Given the description of an element on the screen output the (x, y) to click on. 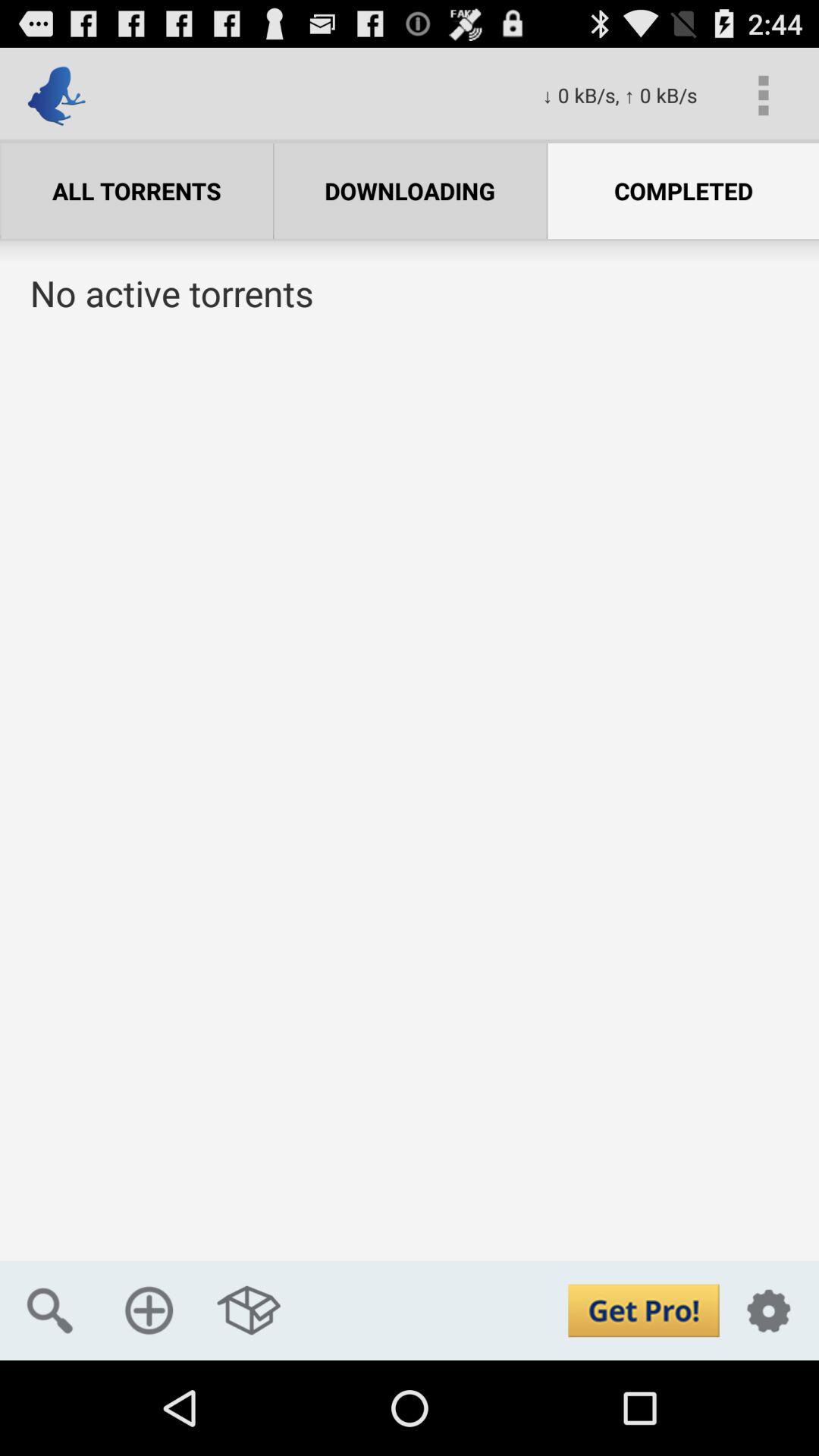
open the item to the right of 0 kb s app (763, 95)
